Given the description of an element on the screen output the (x, y) to click on. 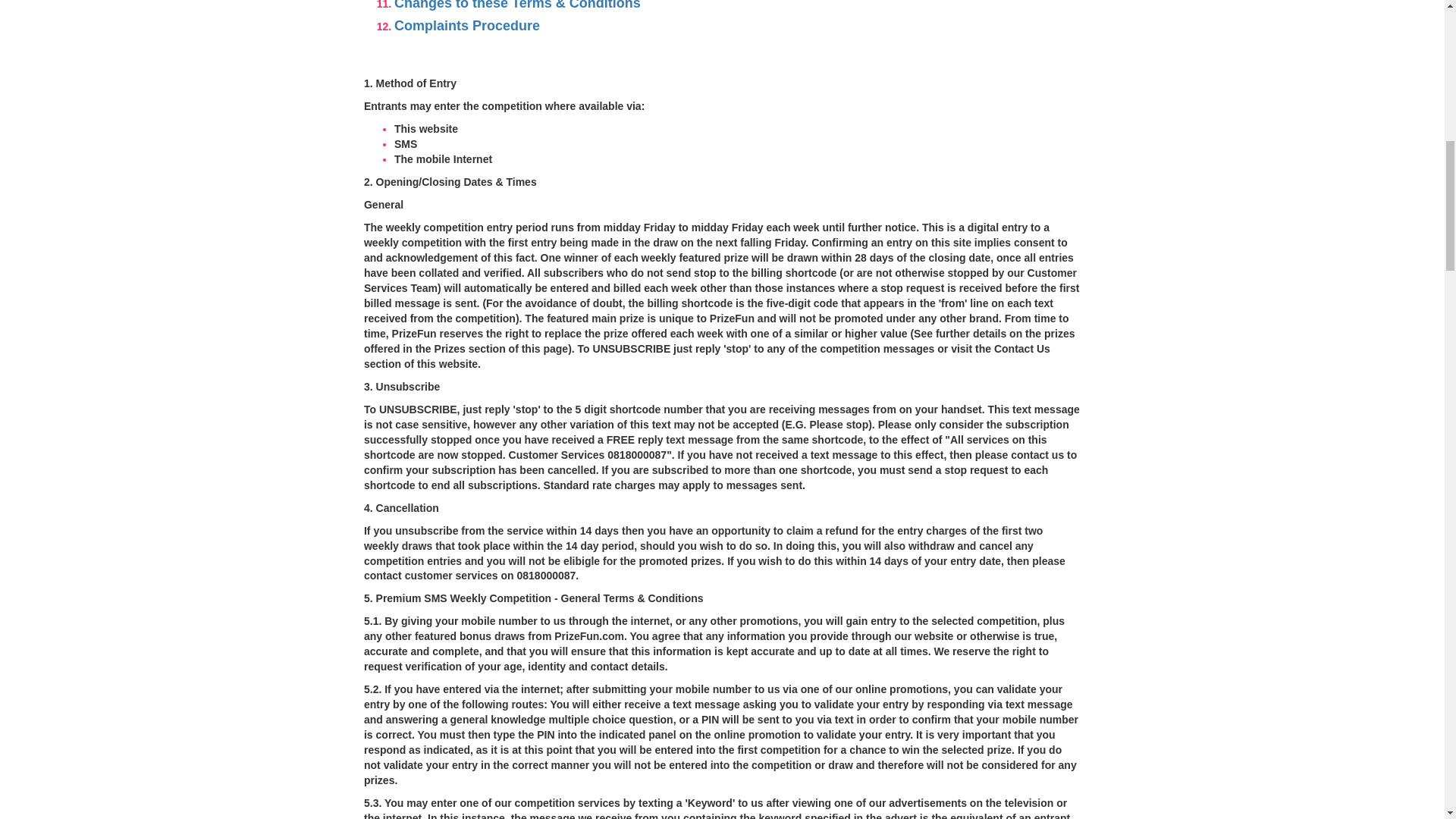
Complaints Procedure (467, 25)
